Given the description of an element on the screen output the (x, y) to click on. 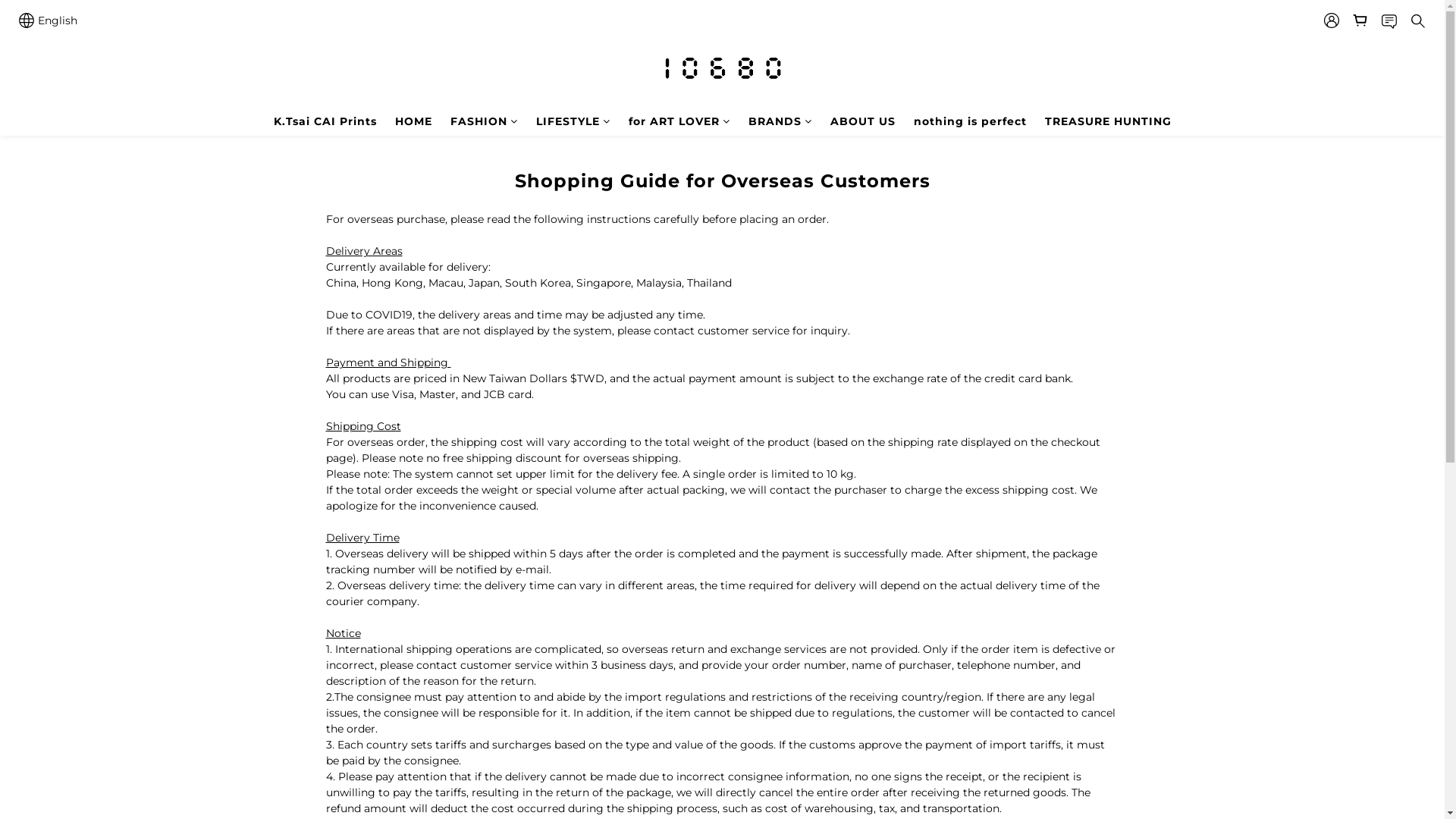
for ART LOVER Element type: text (678, 121)
ABOUT US Element type: text (861, 121)
FASHION Element type: text (483, 121)
TREASURE HUNTING Element type: text (1107, 121)
K.Tsai CAI Prints Element type: text (324, 121)
BRANDS Element type: text (779, 121)
LIFESTYLE Element type: text (572, 121)
nothing is perfect Element type: text (969, 121)
HOME Element type: text (412, 121)
